Given the description of an element on the screen output the (x, y) to click on. 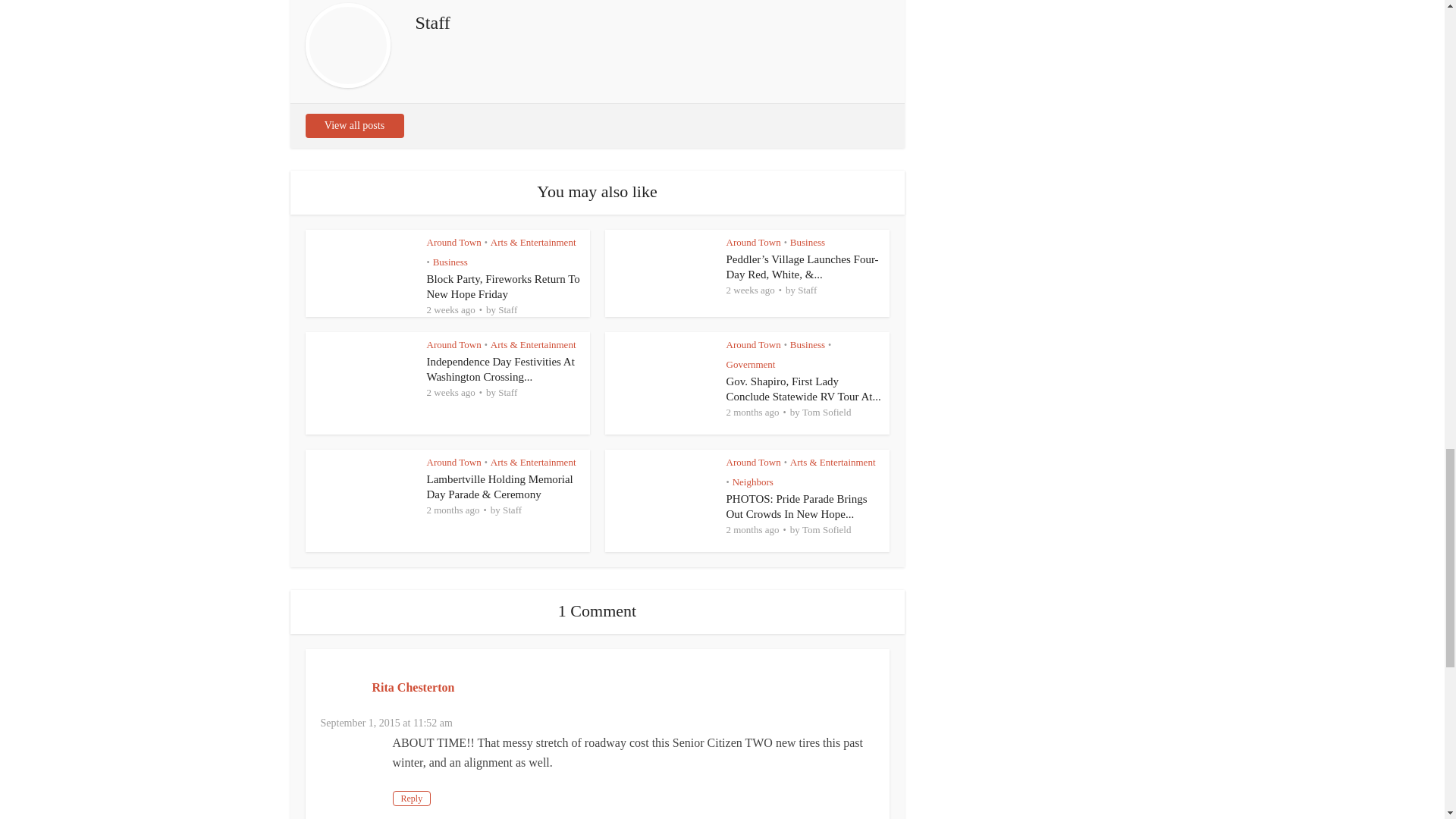
Staff (506, 309)
Block Party, Fireworks Return To New Hope Friday (502, 286)
Around Town (453, 242)
Around Town (753, 242)
Staff (806, 289)
Block Party, Fireworks Return To New Hope Friday (502, 286)
Around Town (453, 344)
View all posts (353, 125)
Business (449, 261)
Business (807, 242)
